Given the description of an element on the screen output the (x, y) to click on. 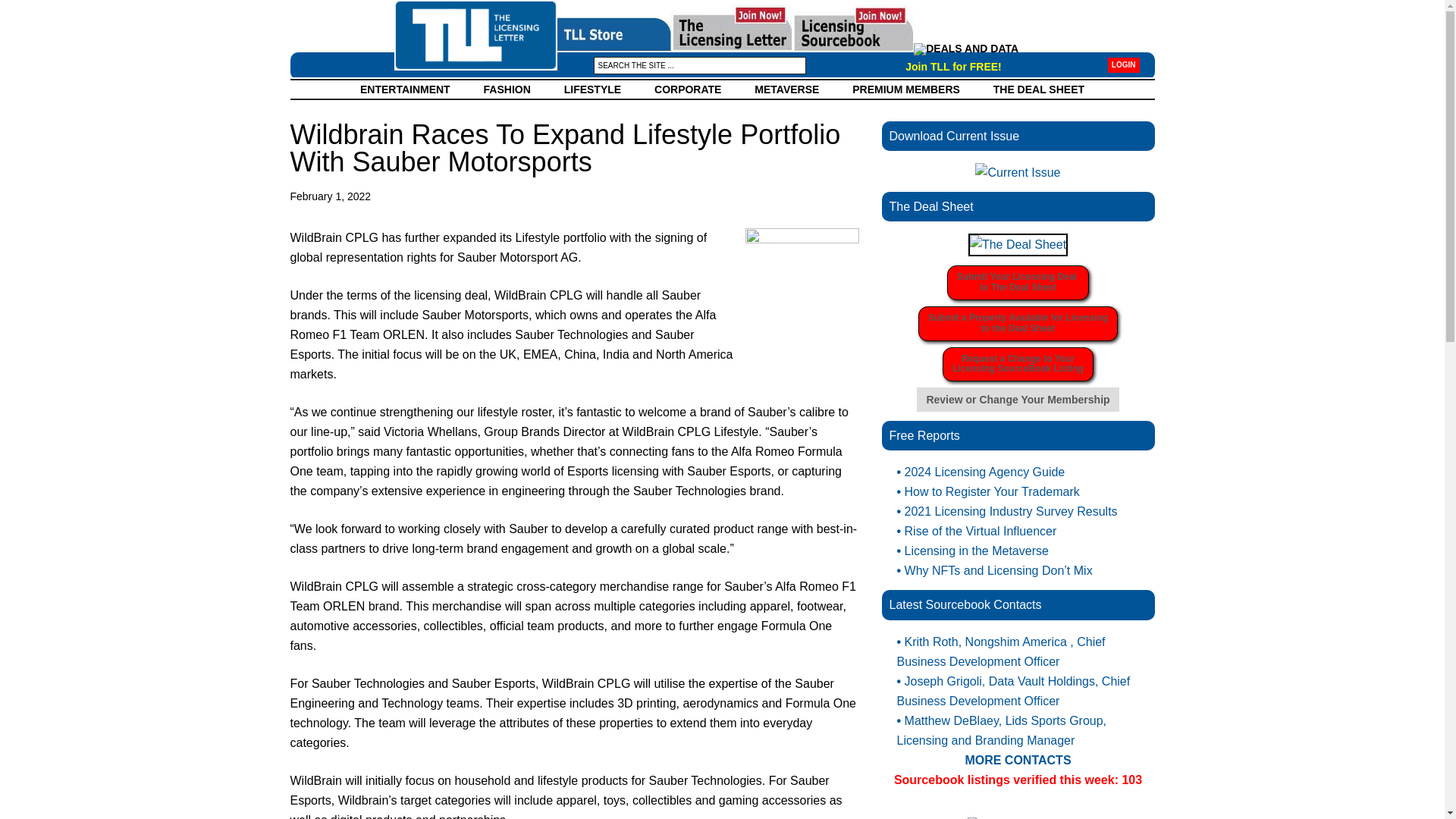
METAVERSE (786, 89)
PREMIUM MEMBERS (906, 89)
LIFESTYLE (592, 89)
Join TLL for FREE! (1017, 364)
ENTERTAINMENT (953, 66)
Search (405, 89)
Review or Change Your Membership (106, 10)
LOGIN (1018, 282)
FASHION (1017, 399)
CORPORATE (1123, 64)
Skip to main content (507, 89)
THE DEAL SHEET (687, 89)
